Given the description of an element on the screen output the (x, y) to click on. 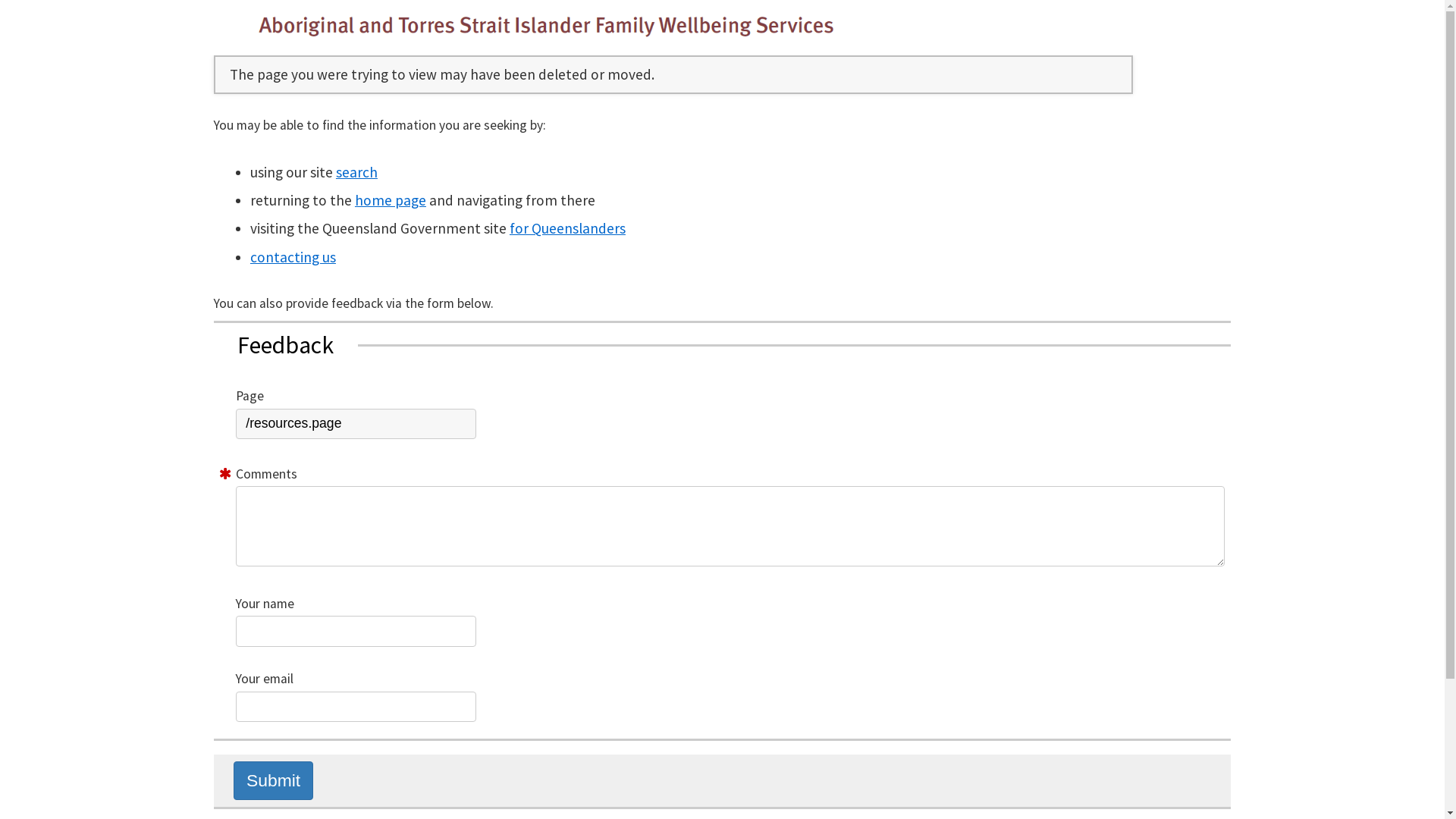
Submit Element type: text (273, 780)
search Element type: text (356, 172)
for Queenslanders Element type: text (567, 228)
contacting us Element type: text (292, 256)
home page Element type: text (390, 200)
This field is required Element type: hover (225, 473)
